Given the description of an element on the screen output the (x, y) to click on. 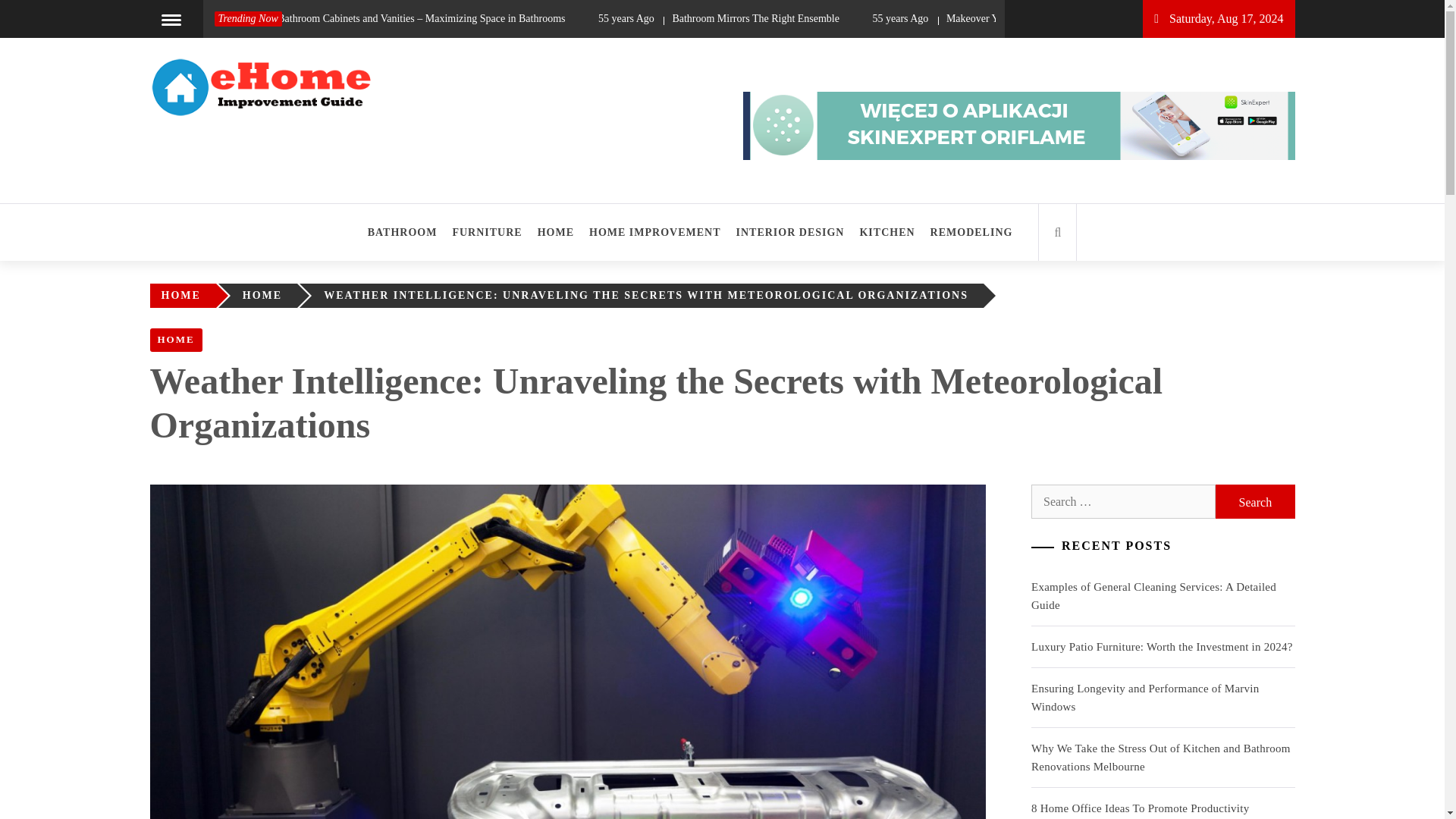
Search (797, 37)
BATHROOM (406, 232)
HOME (266, 295)
Search (1254, 501)
HOME IMPROVEMENT (654, 232)
55 years Ago Bathroom Mirrors The Right Ensemble (770, 18)
55 years Ago Makeover Your Small Bathroom Inside a Budget (1063, 18)
INTERIOR DESIGN (789, 232)
FURNITURE (486, 232)
KITCHEN (886, 232)
